Given the description of an element on the screen output the (x, y) to click on. 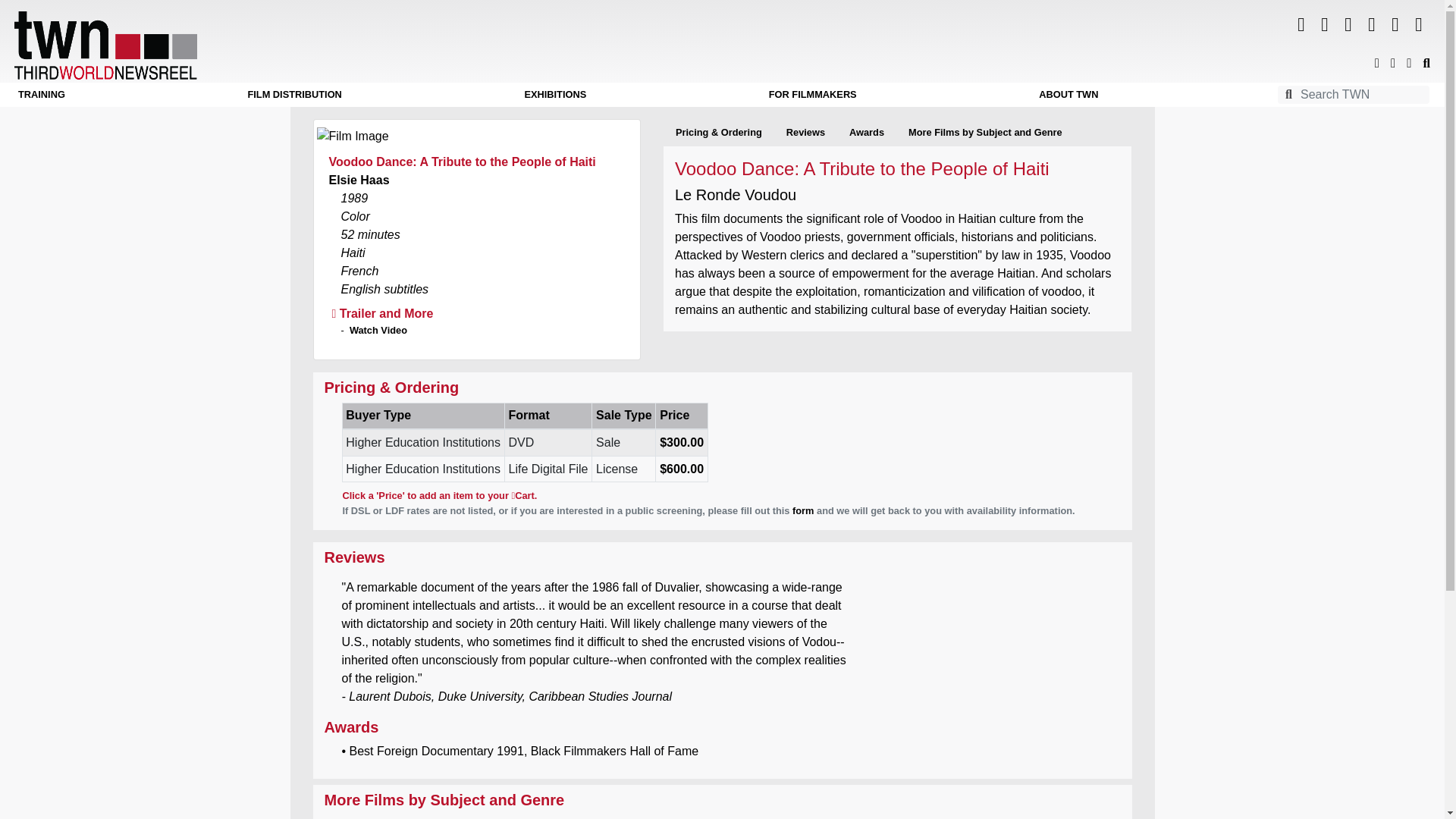
TRAINING (41, 93)
FOR FILMMAKERS (812, 93)
Add to Shopping Cart (718, 131)
EXHIBITIONS (555, 93)
FILM DISTRIBUTION (294, 93)
